Given the description of an element on the screen output the (x, y) to click on. 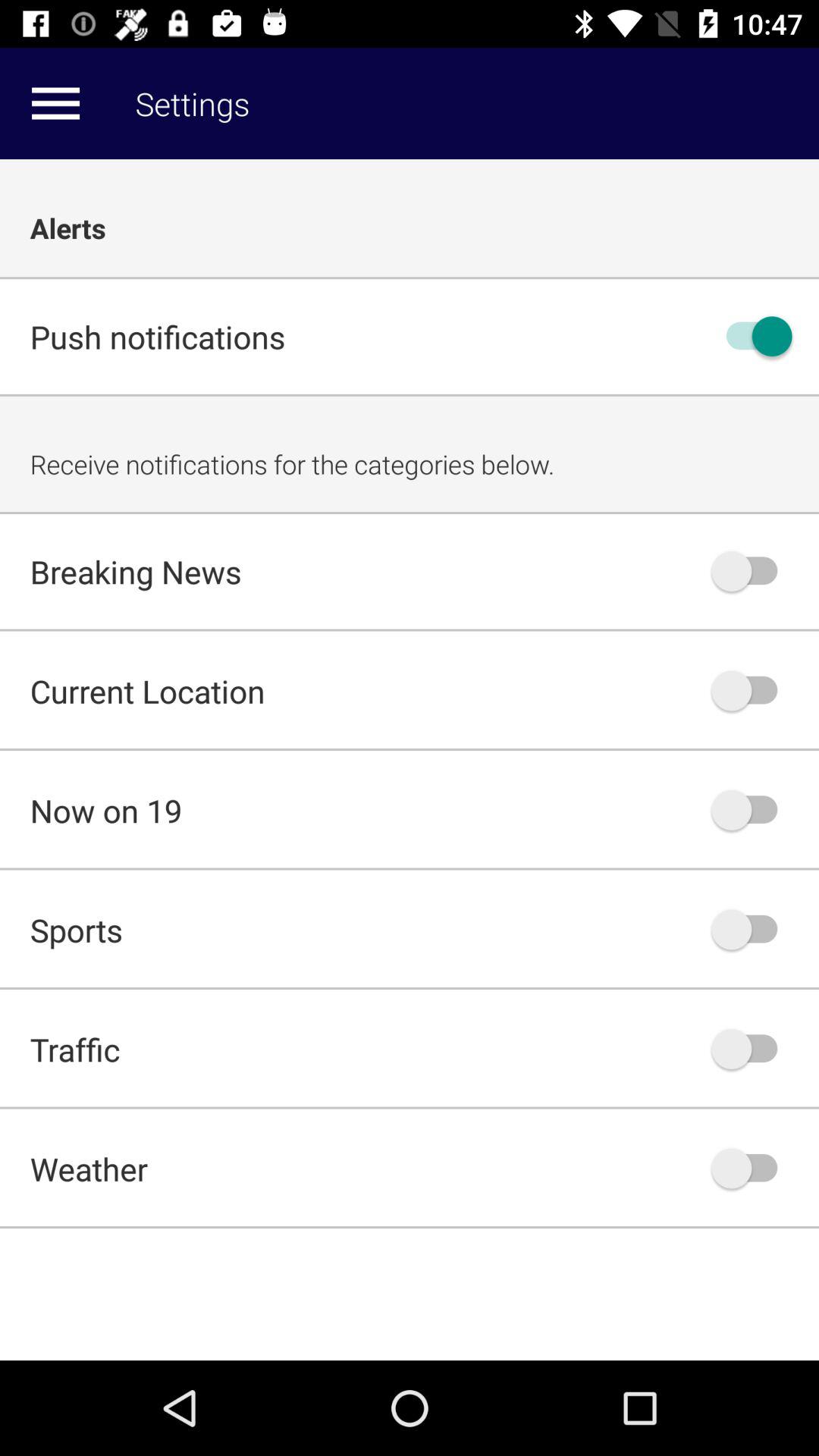
turn-off current location (751, 690)
